Given the description of an element on the screen output the (x, y) to click on. 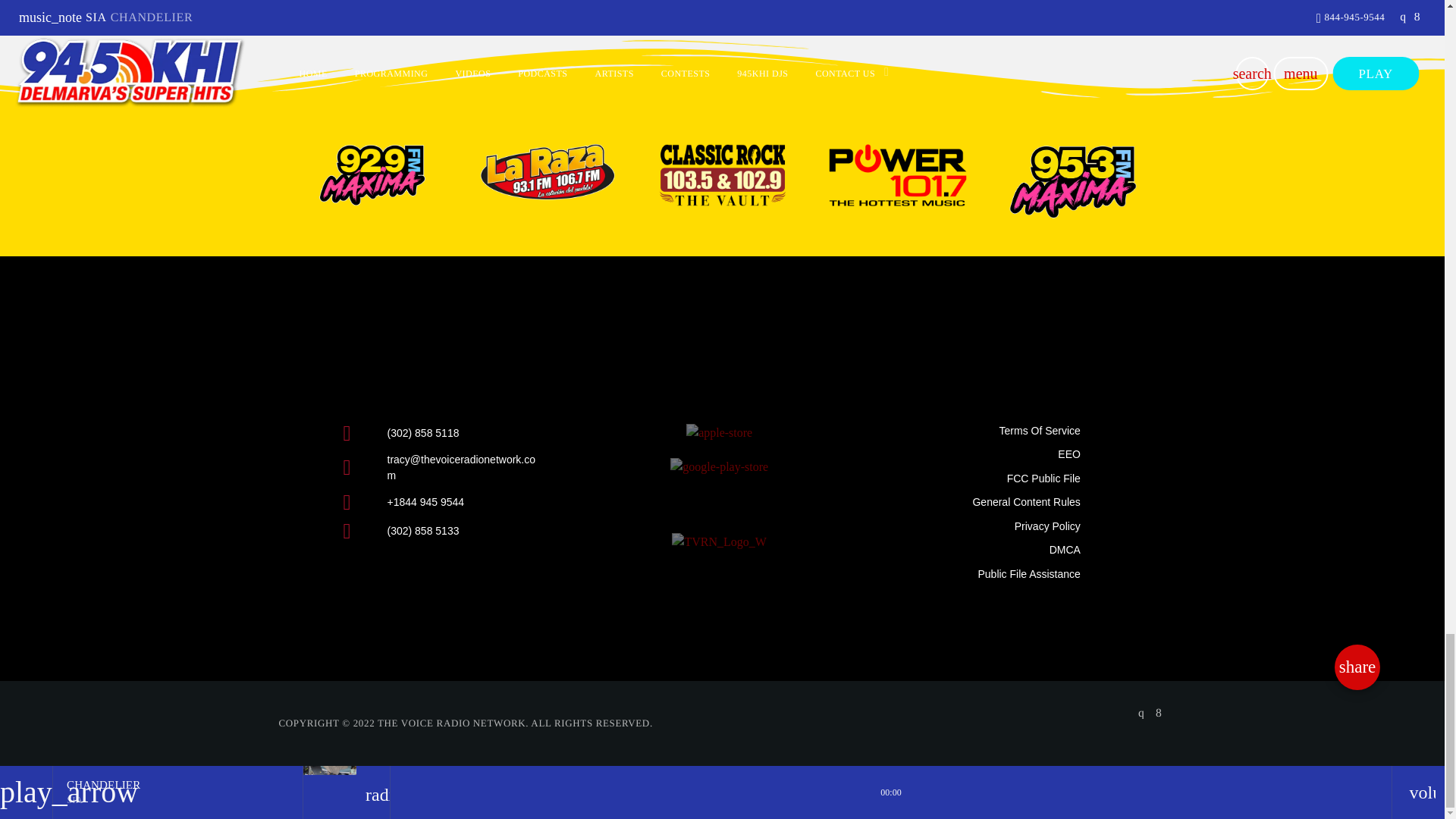
Maxima929 (371, 175)
Power 101.7 (897, 175)
thevaultrocks (722, 175)
La Raza 900 (546, 171)
Maxima 95.3 (1072, 181)
